Given the description of an element on the screen output the (x, y) to click on. 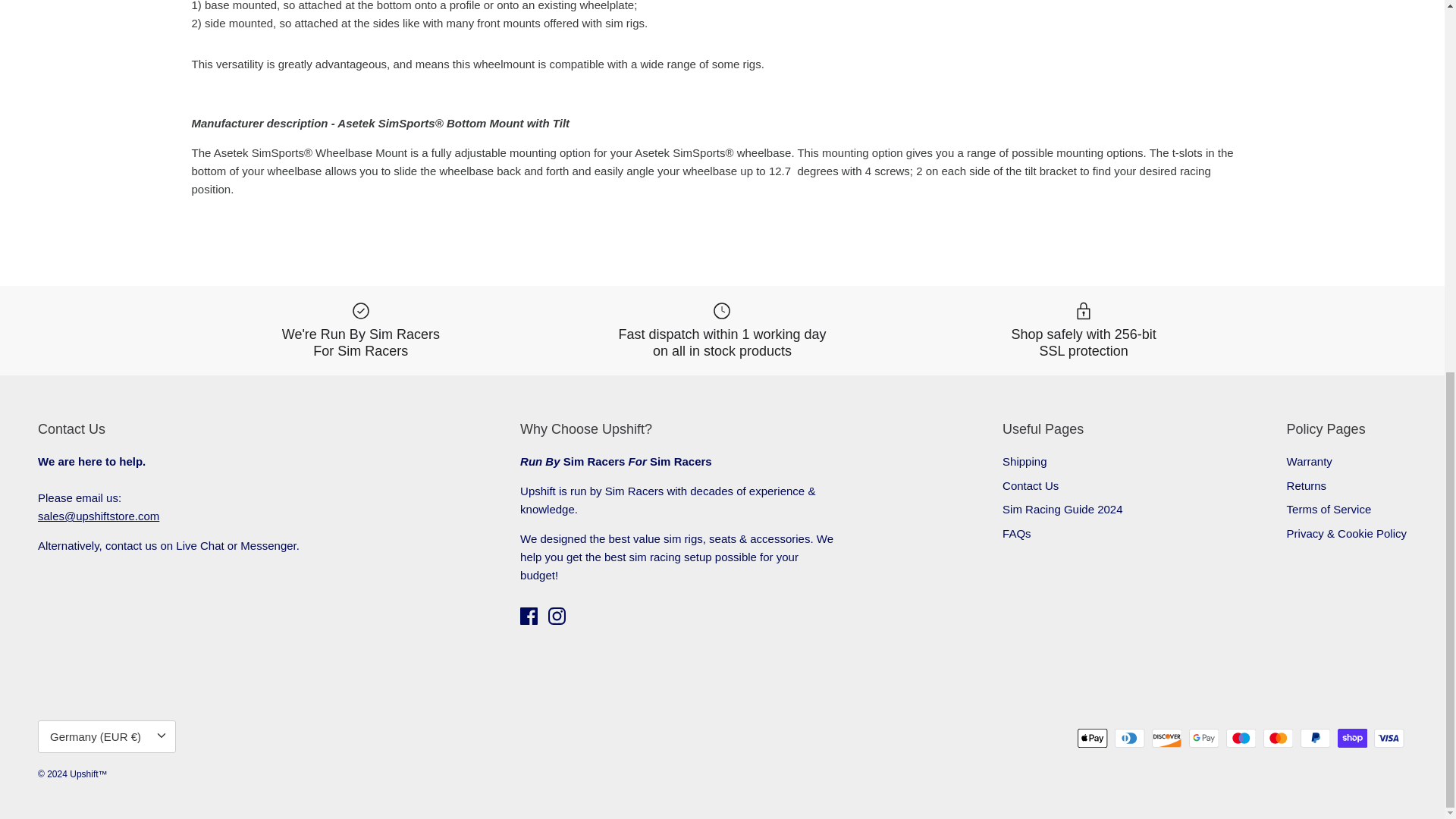
Diners Club (1129, 737)
Visa (1388, 737)
Instagram (557, 615)
Maestro (1240, 737)
Shop Pay (1352, 737)
PayPal (1315, 737)
Google Pay (1203, 737)
Apple Pay (1092, 737)
Discover (1166, 737)
Facebook (528, 615)
Mastercard (1277, 737)
